Given the description of an element on the screen output the (x, y) to click on. 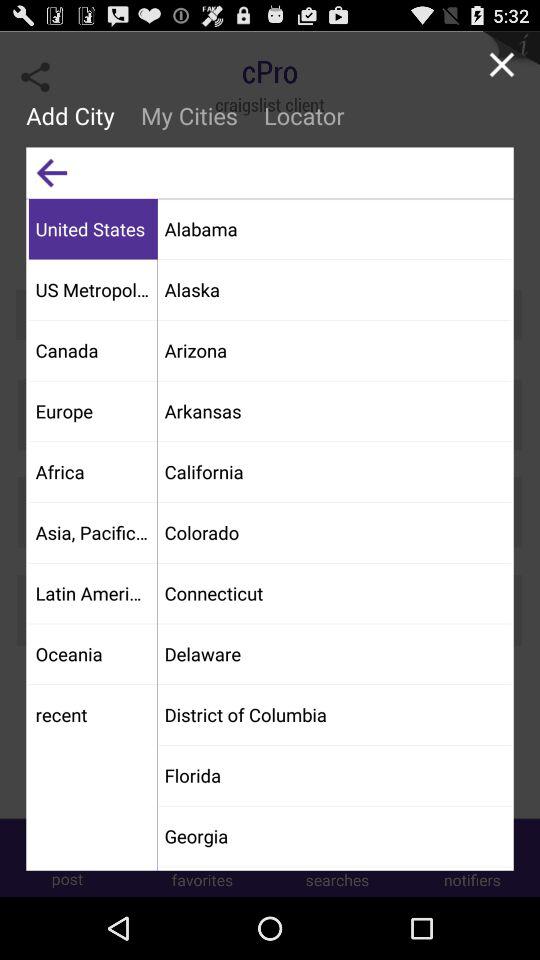
turn off the item below florida (334, 835)
